Given the description of an element on the screen output the (x, y) to click on. 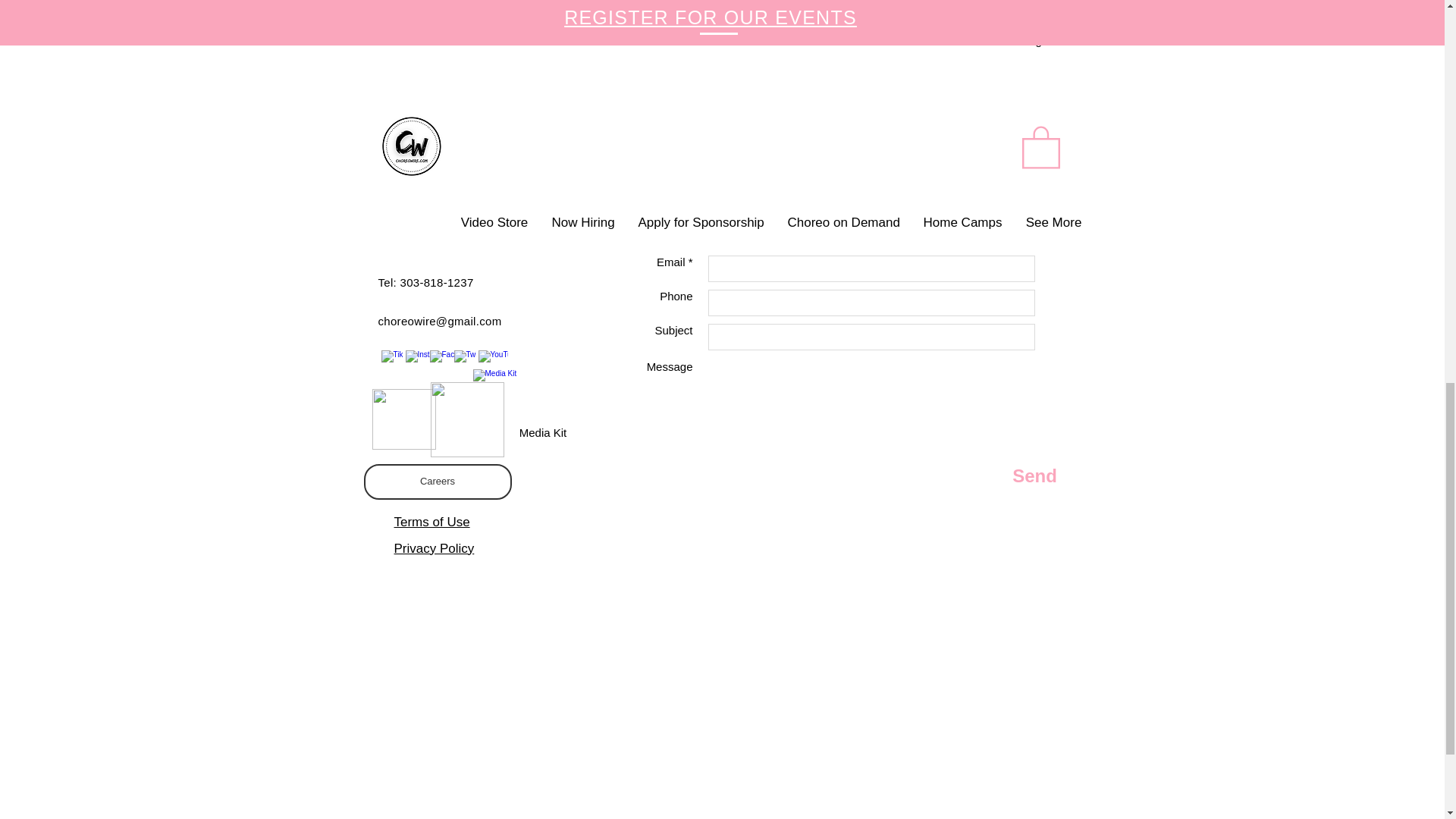
Media Kit (541, 406)
Get a Quote (553, 173)
Privacy Policy (414, 106)
Terms Of Use (413, 91)
Refund Policy (414, 75)
Video Store (985, 173)
Our Routines on Our Teams (770, 173)
